Given the description of an element on the screen output the (x, y) to click on. 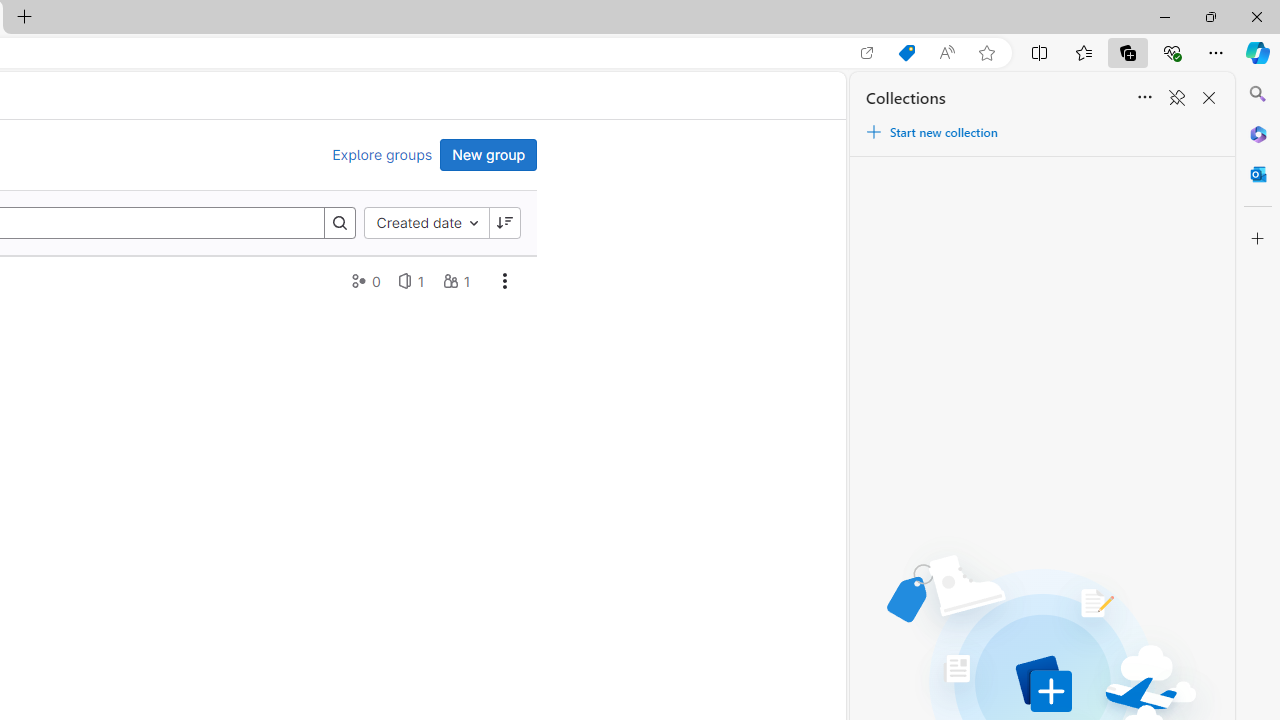
Sort direction: Descending (504, 222)
Explore groups (381, 155)
Start new collection (931, 132)
Created date (426, 222)
Close Collections (1208, 98)
